Given the description of an element on the screen output the (x, y) to click on. 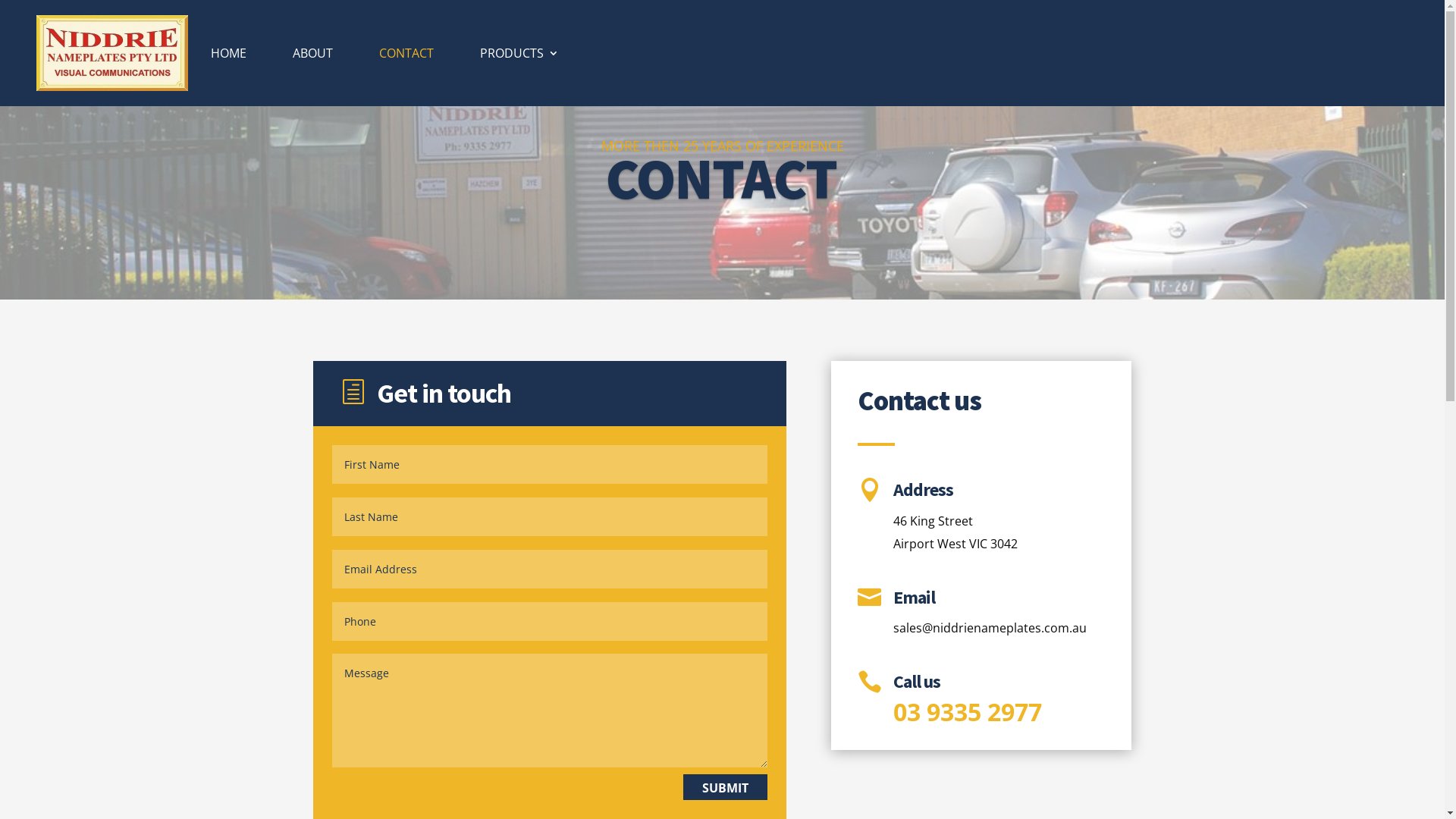
CONTACT Element type: text (406, 53)
PRODUCTS Element type: text (519, 53)
HOME Element type: text (228, 53)
sales@niddrienameplates.com.au Element type: text (989, 627)
ABOUT Element type: text (312, 53)
03 9335 2977 Element type: text (967, 711)
SUBMIT Element type: text (725, 787)
